Given the description of an element on the screen output the (x, y) to click on. 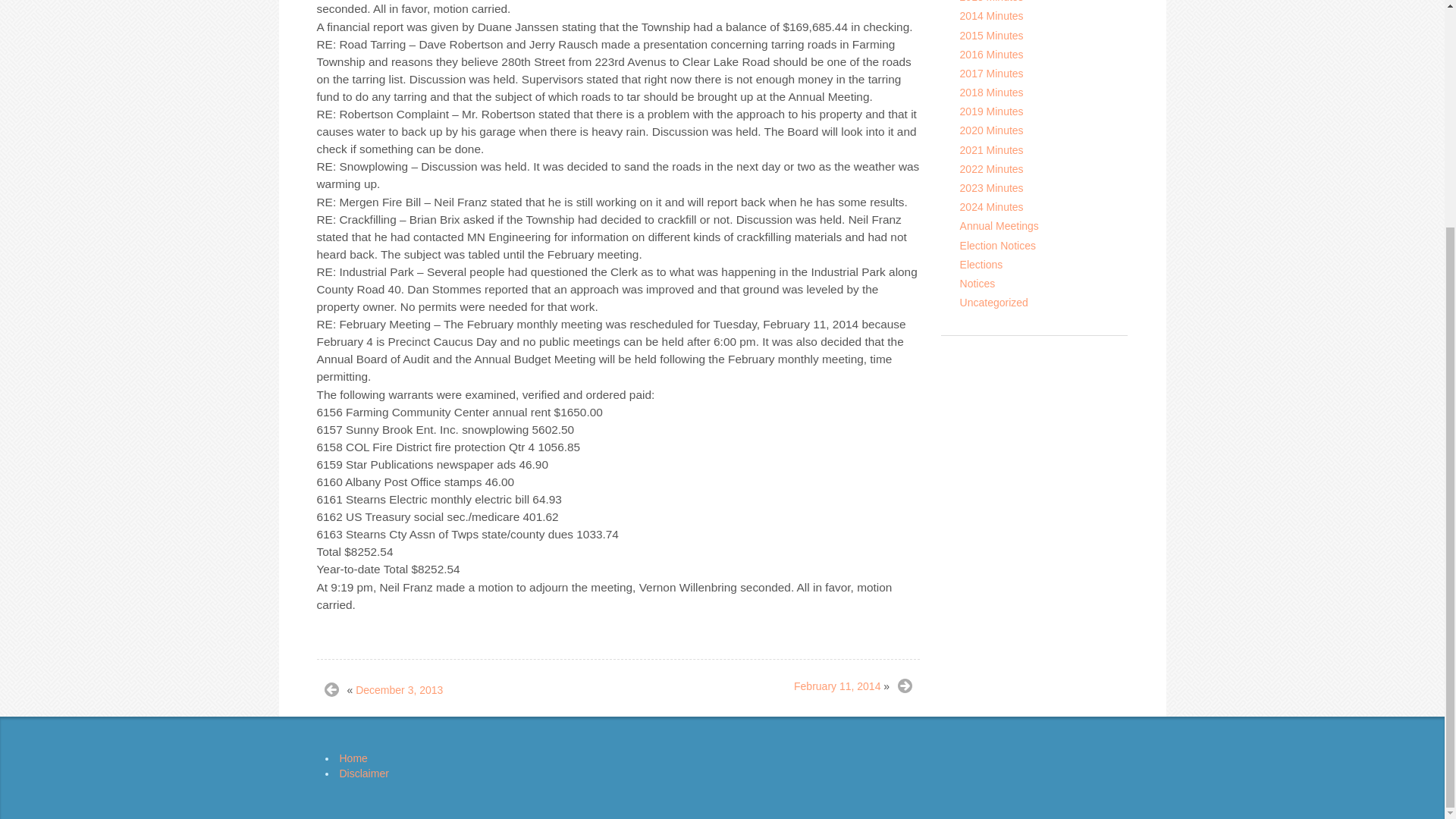
2015 Minutes (991, 35)
2017 Minutes (991, 73)
December 3, 2013 (398, 689)
2019 Minutes (991, 111)
2024 Minutes (991, 206)
2021 Minutes (991, 150)
2016 Minutes (991, 54)
2023 Minutes (991, 187)
2022 Minutes (991, 168)
2018 Minutes (991, 92)
Annual Meetings (999, 225)
2014 Minutes (991, 15)
2013 Minutes (991, 1)
2020 Minutes (991, 130)
February 11, 2014 (836, 686)
